Given the description of an element on the screen output the (x, y) to click on. 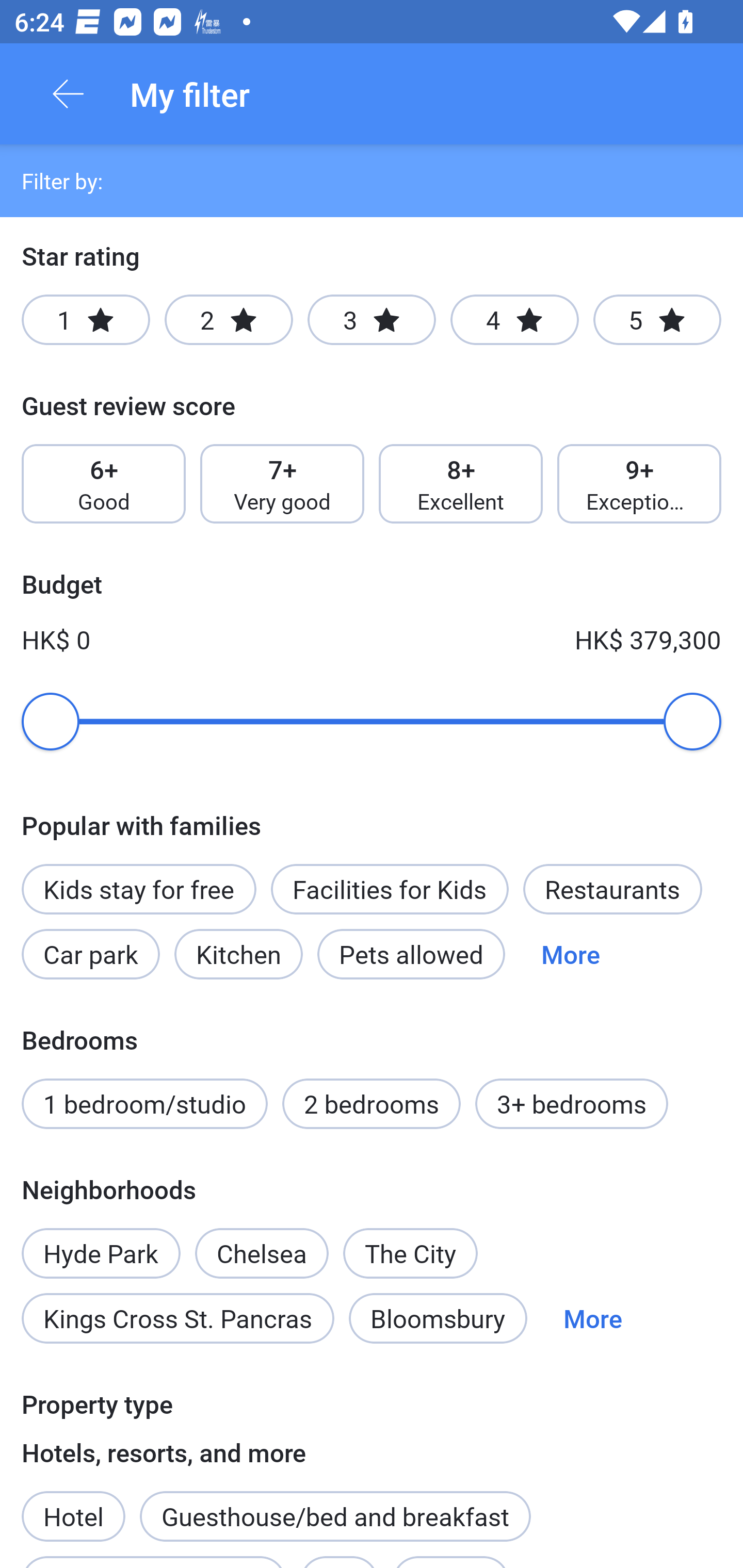
1 (85, 319)
2 (228, 319)
3 (371, 319)
4 (514, 319)
5 (657, 319)
6+ Good (103, 483)
7+ Very good (281, 483)
8+ Excellent (460, 483)
9+ Exceptional (639, 483)
Kids stay for free (138, 888)
Facilities for Kids (389, 888)
Restaurants (612, 888)
Car park (90, 954)
Kitchen (238, 954)
Pets allowed (411, 954)
More (570, 954)
1 bedroom/studio (144, 1103)
2 bedrooms (371, 1103)
3+ bedrooms (571, 1103)
Hyde Park (100, 1242)
Chelsea (261, 1242)
The City (410, 1253)
Kings Cross St. Pancras (177, 1317)
Bloomsbury (437, 1317)
More (592, 1317)
Hotel (73, 1505)
Guesthouse/bed and breakfast (335, 1516)
